Given the description of an element on the screen output the (x, y) to click on. 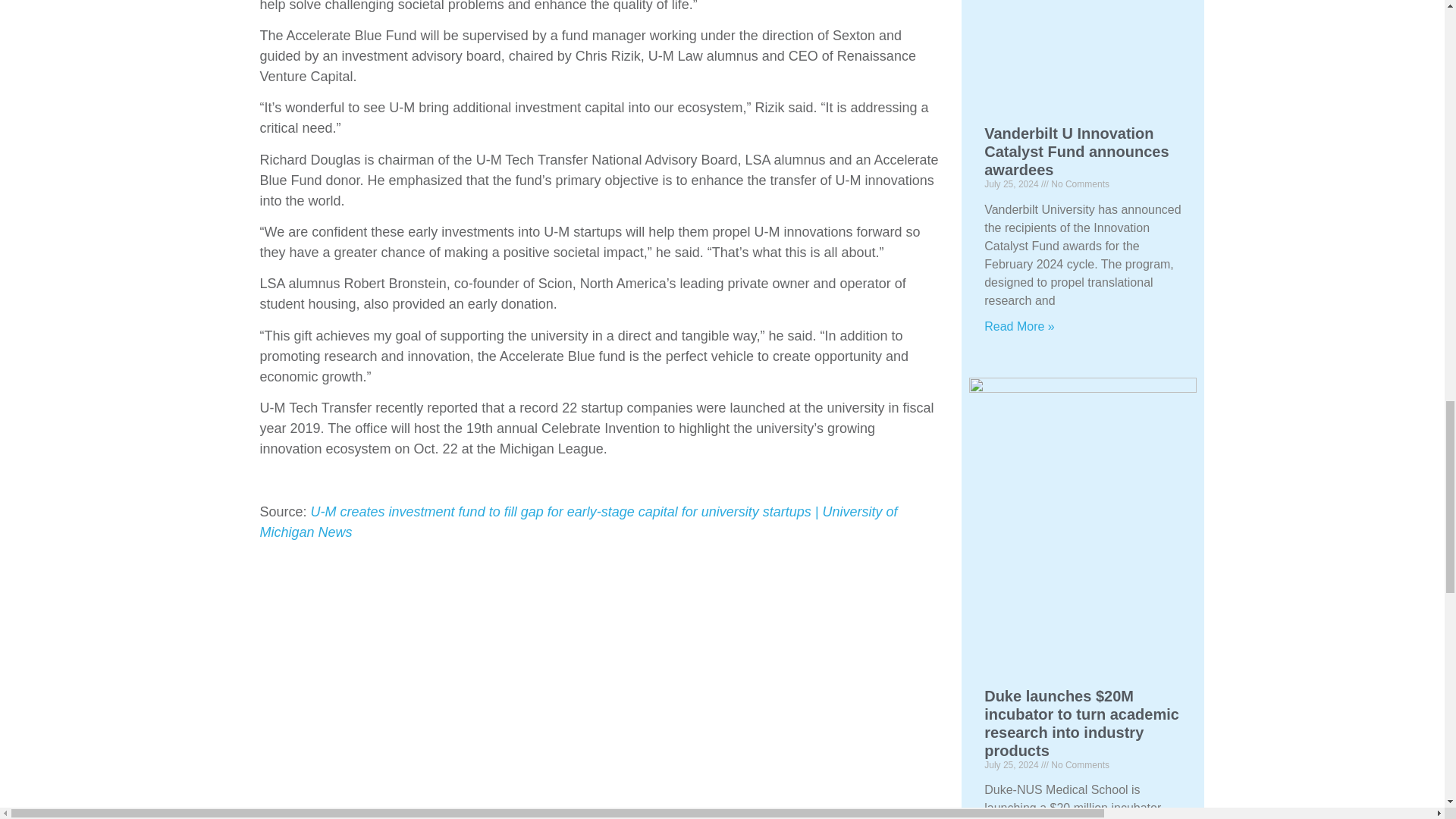
Vanderbilt U Innovation Catalyst Fund announces awardees  (1076, 151)
